Given the description of an element on the screen output the (x, y) to click on. 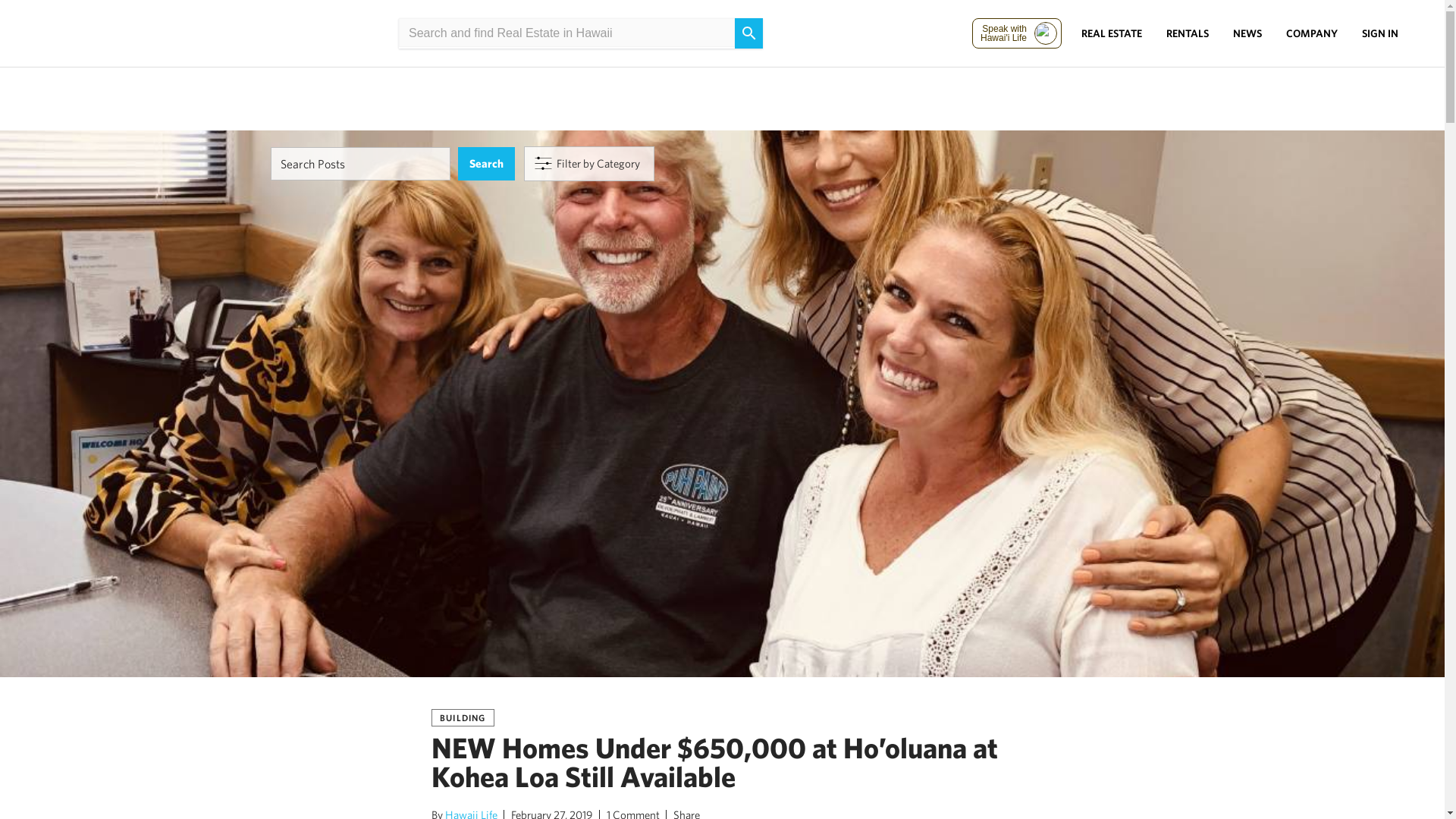
Search (486, 163)
COMPANY (1311, 33)
SIGN IN (1379, 33)
Filter by Category (588, 163)
RENTALS (1187, 33)
Search (486, 163)
Search (486, 163)
NEWS (1247, 33)
REAL ESTATE (1111, 33)
